Given the description of an element on the screen output the (x, y) to click on. 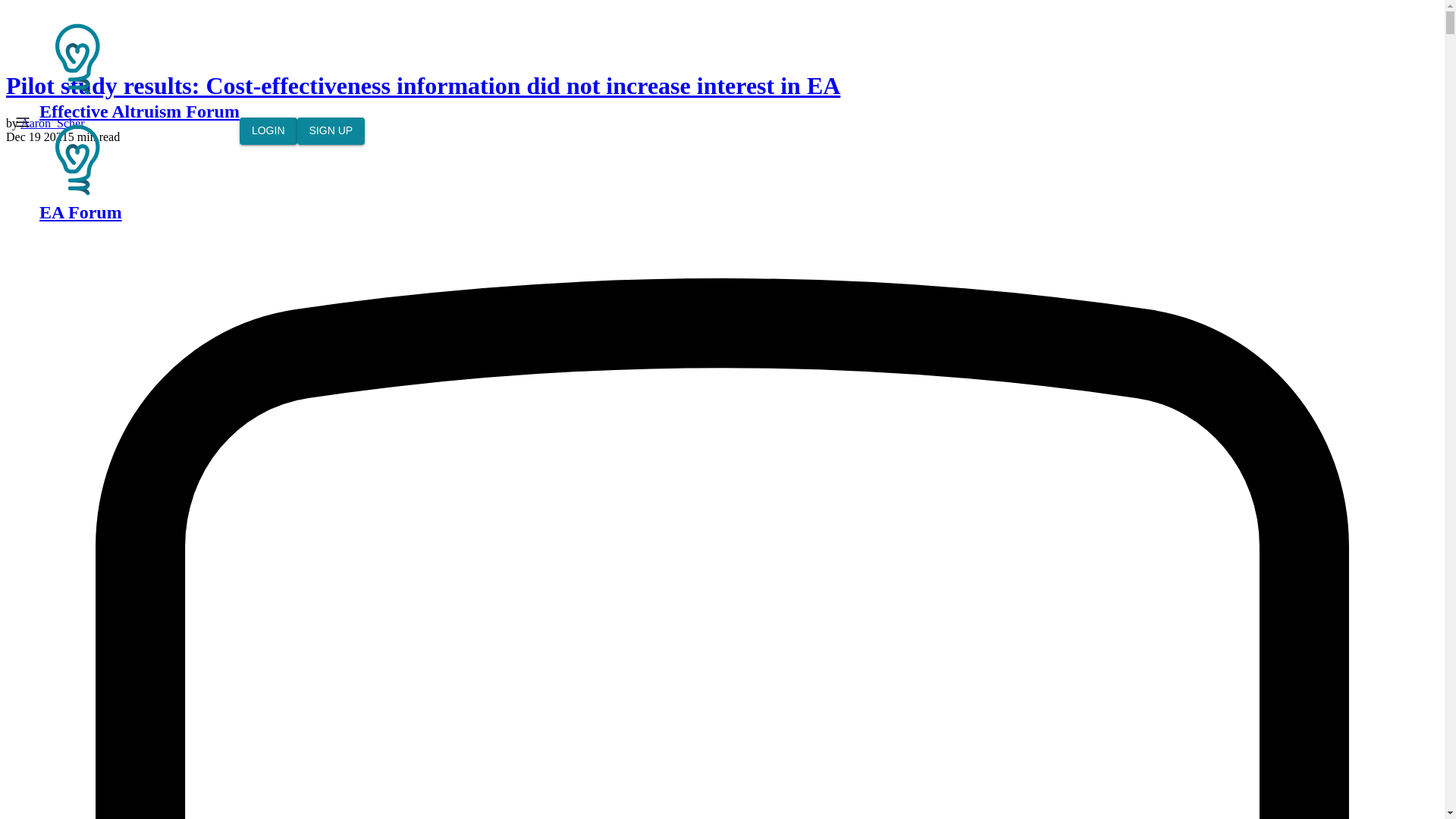
Effective Altruism Forum (139, 71)
SIGN UP (331, 130)
LOGIN (268, 130)
Effective Altruism Forum (77, 160)
Effective Altruism Forum (77, 59)
EA Forum (139, 171)
